Given the description of an element on the screen output the (x, y) to click on. 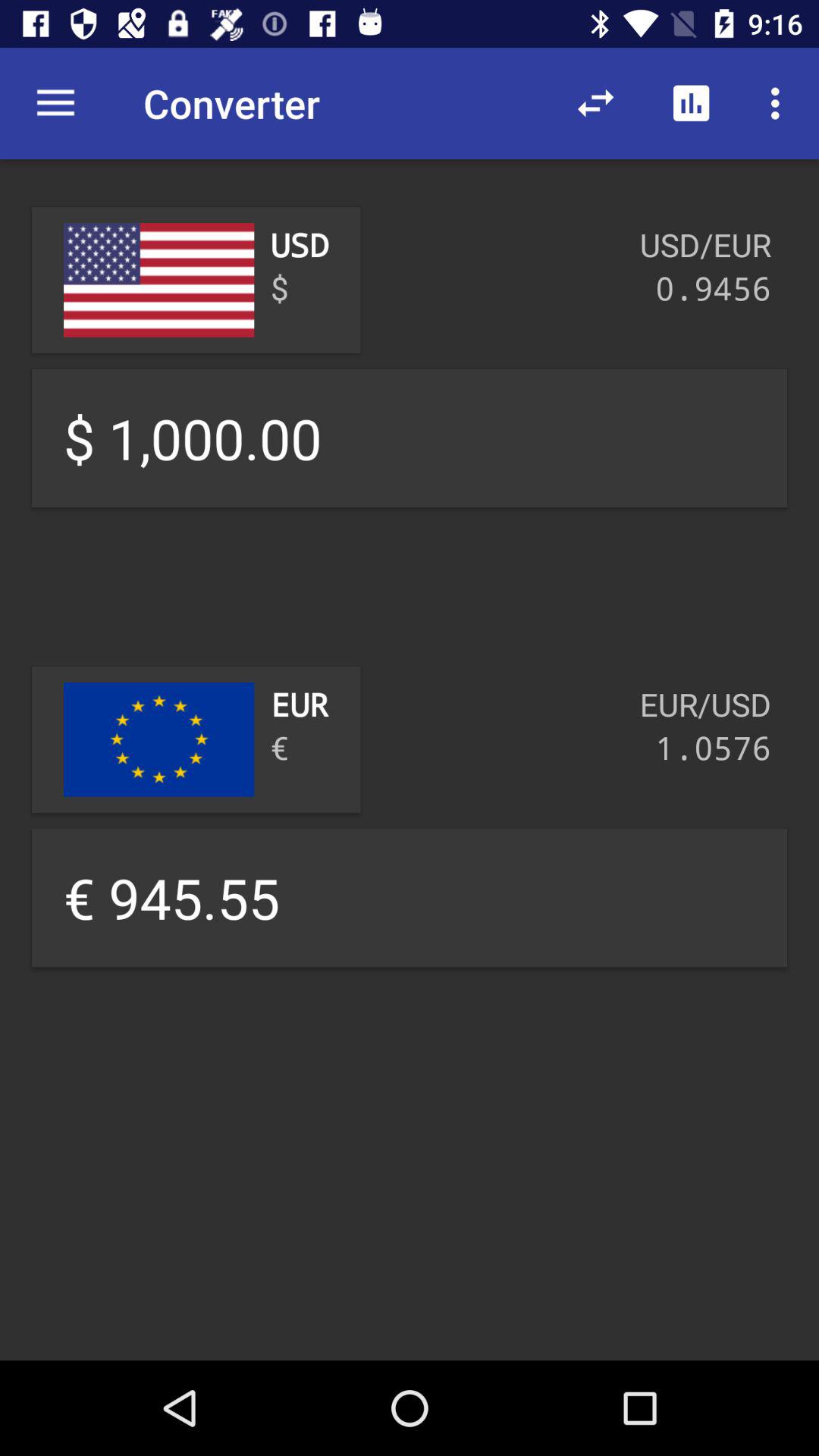
launch item above usd/eur (595, 103)
